Given the description of an element on the screen output the (x, y) to click on. 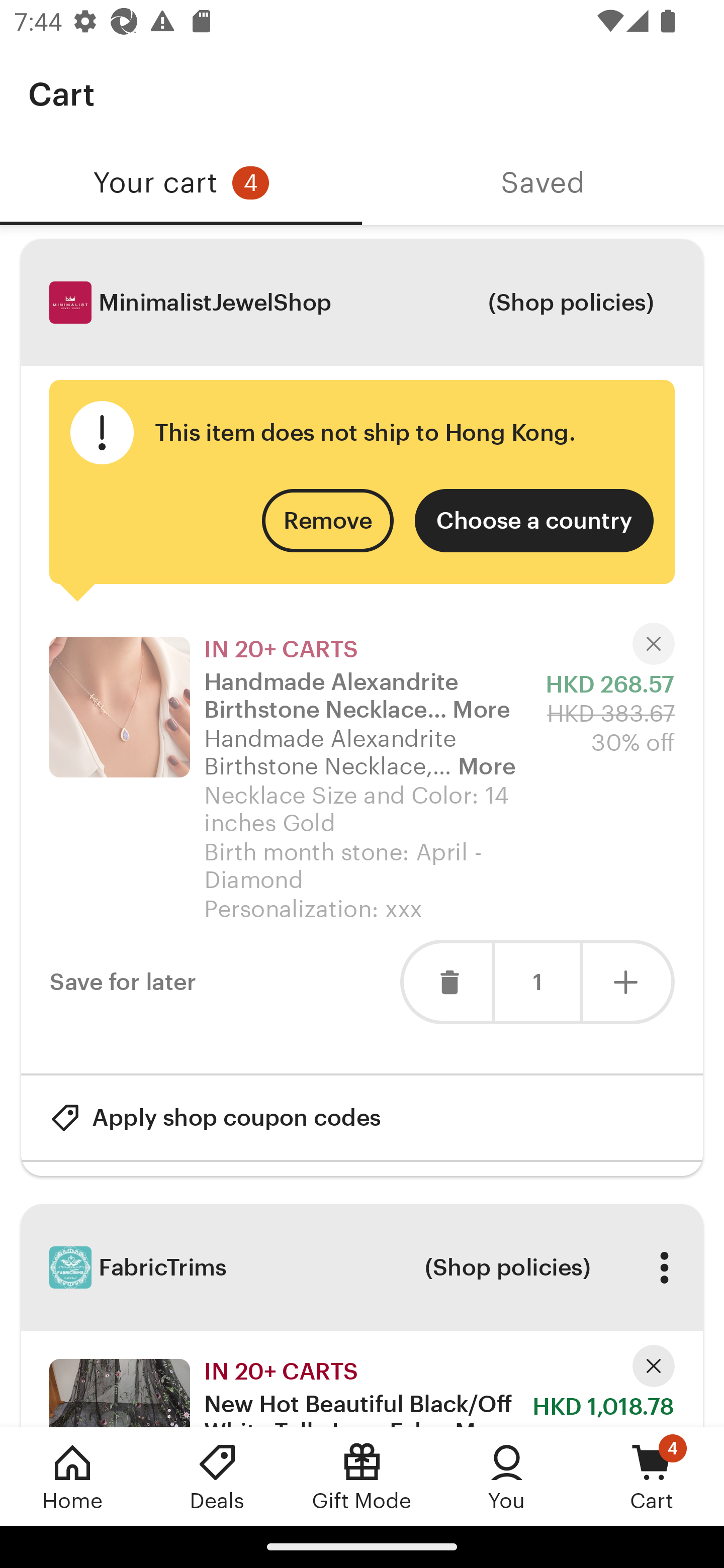
Saved, tab 2 of 2 Saved (543, 183)
MinimalistJewelShop (Shop policies) (361, 302)
(Shop policies) (570, 302)
Remove (327, 520)
Choose a country (533, 520)
Apply shop coupon codes (215, 1117)
FabricTrims (Shop policies) More options (361, 1267)
(Shop policies) (507, 1266)
More options (663, 1266)
Home (72, 1475)
Deals (216, 1475)
Gift Mode (361, 1475)
You (506, 1475)
